Given the description of an element on the screen output the (x, y) to click on. 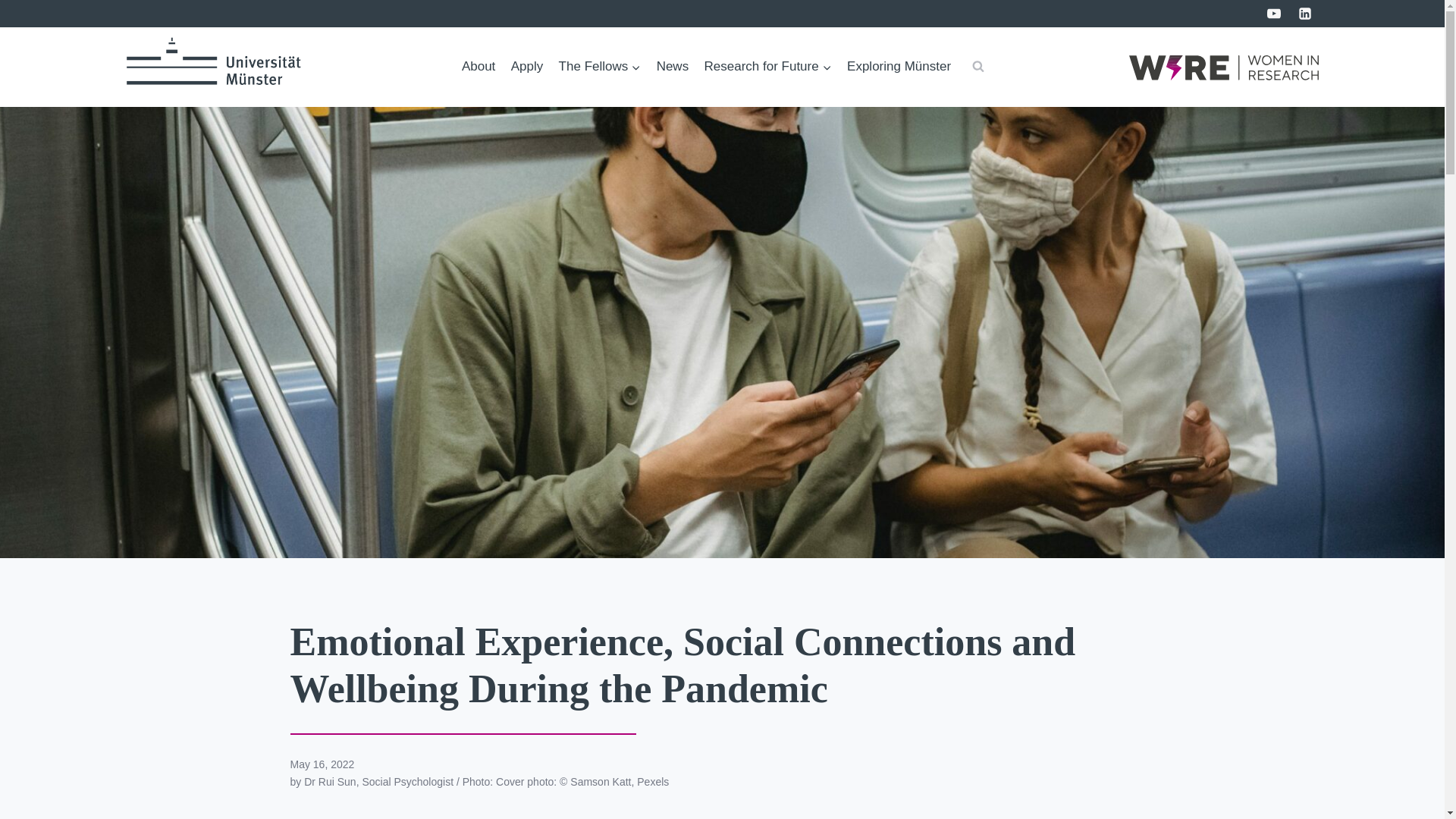
Research for Future (767, 67)
The Fellows (598, 67)
